Given the description of an element on the screen output the (x, y) to click on. 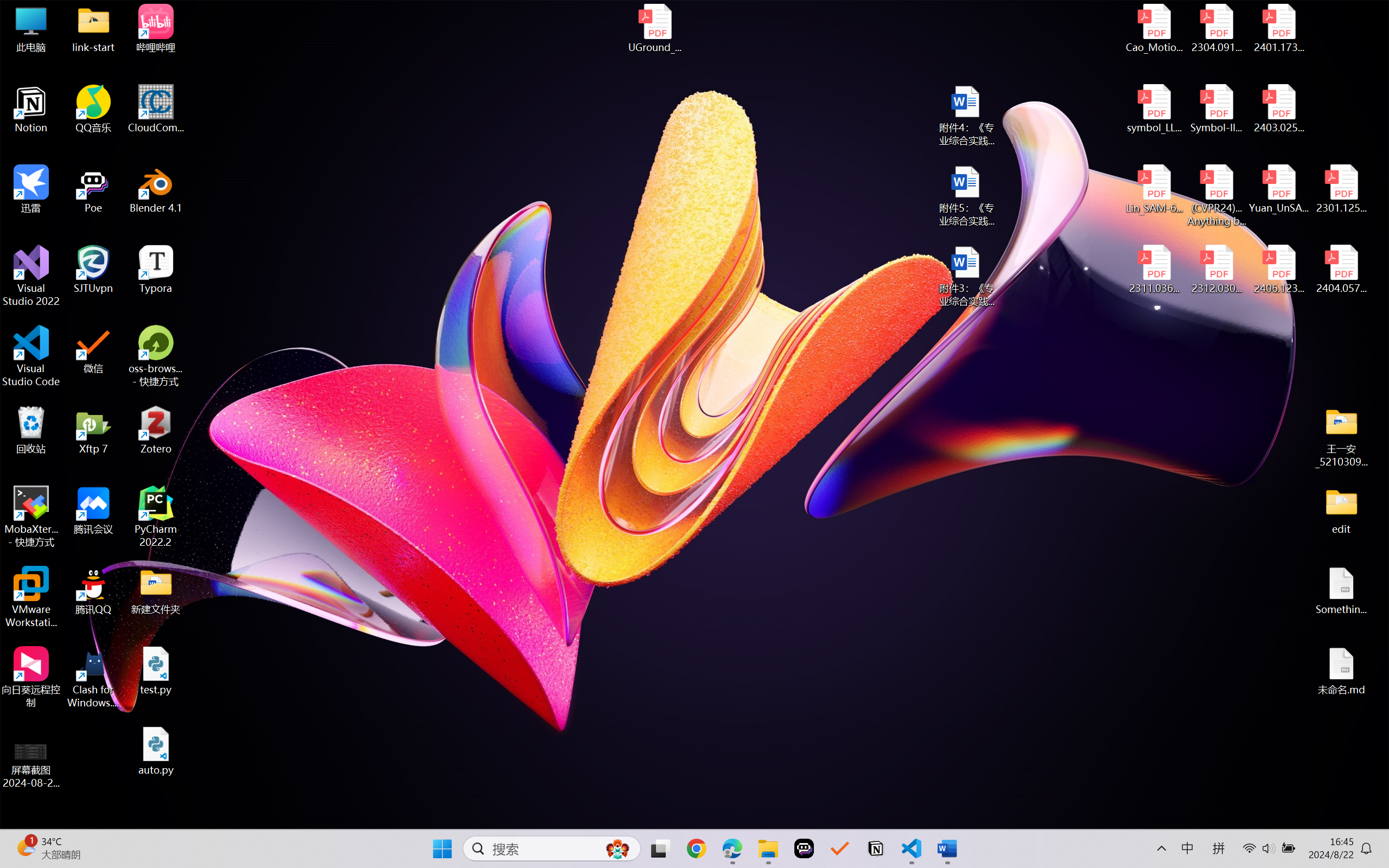
test.py (156, 670)
PyCharm 2022.2 (156, 516)
Typora (156, 269)
2311.03658v2.pdf (1154, 269)
Visual Studio 2022 (31, 276)
(CVPR24)Matching Anything by Segmenting Anything.pdf (1216, 195)
auto.py (156, 751)
